Given the description of an element on the screen output the (x, y) to click on. 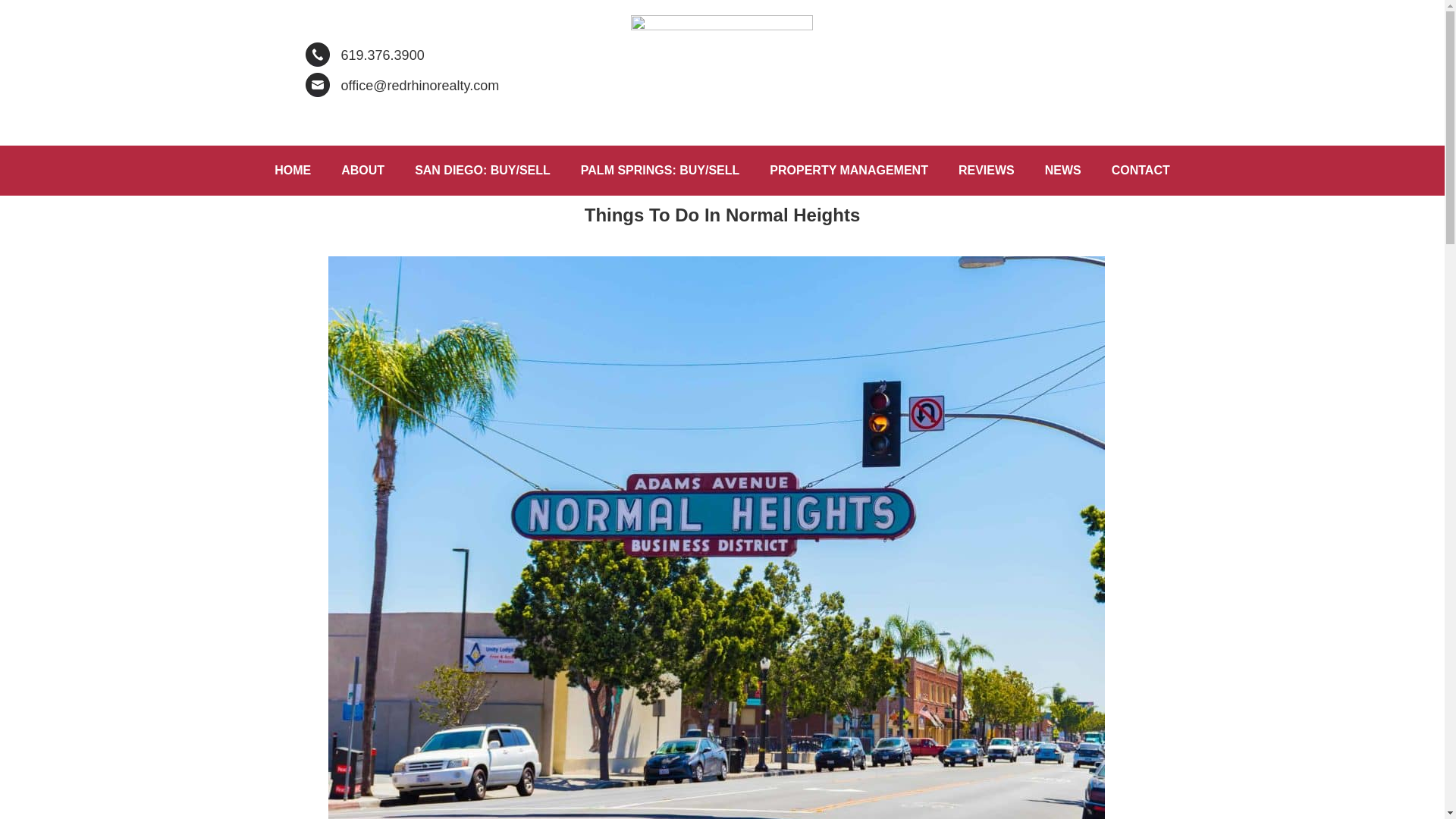
REVIEWS (986, 170)
NEWS (1062, 170)
619.376.3900 (382, 55)
PROPERTY MANAGEMENT (848, 170)
ABOUT (362, 170)
HOME (292, 170)
CONTACT (1140, 170)
